Given the description of an element on the screen output the (x, y) to click on. 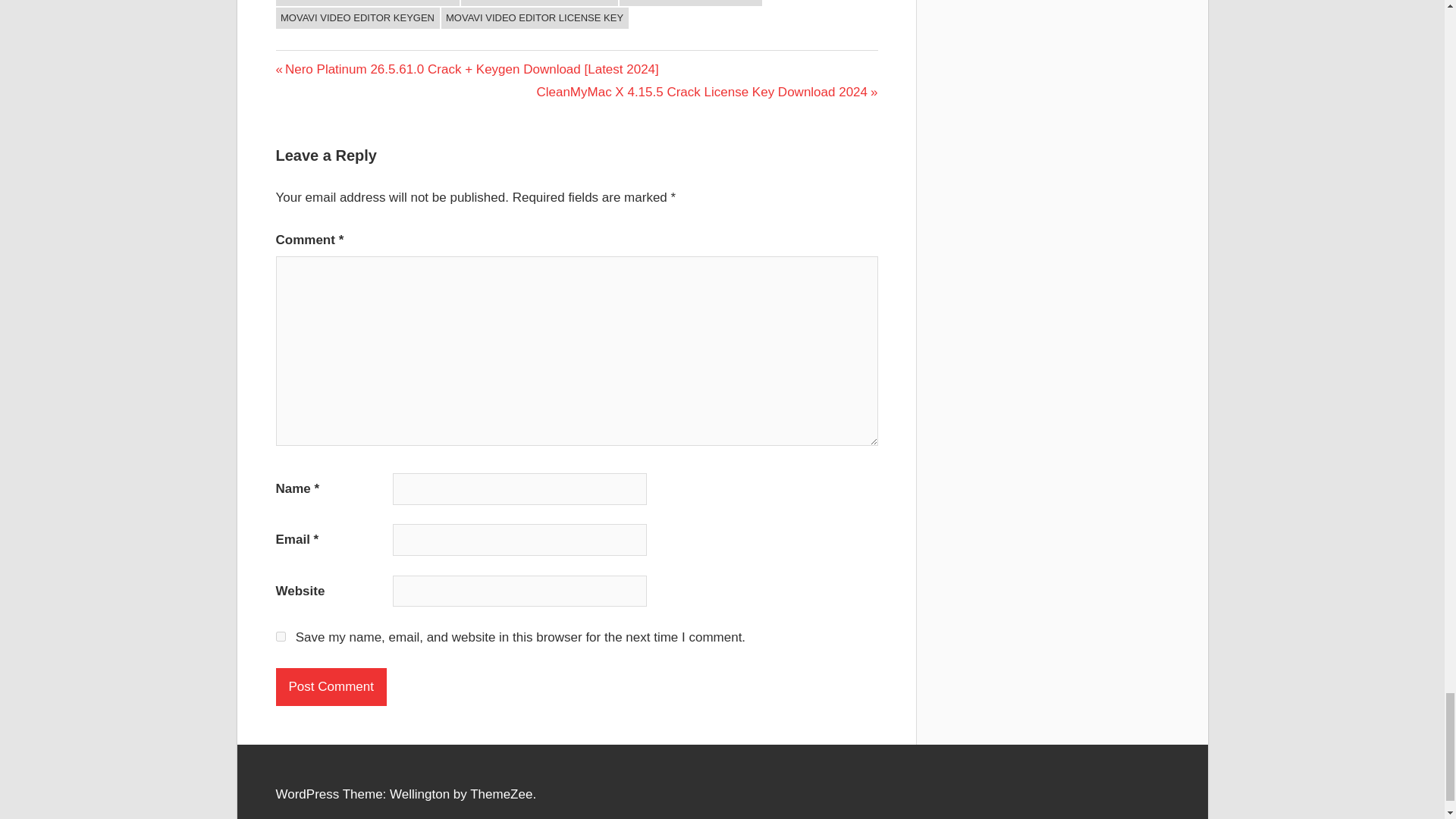
MOVAVI VIDEO EDITOR KEY (690, 2)
MOVAVI VIDEO EDITOR 22 TORRENT (368, 2)
Post Comment (331, 686)
MOVAVI VIDEO EDITOR CRACK (539, 2)
yes (280, 636)
